Given the description of an element on the screen output the (x, y) to click on. 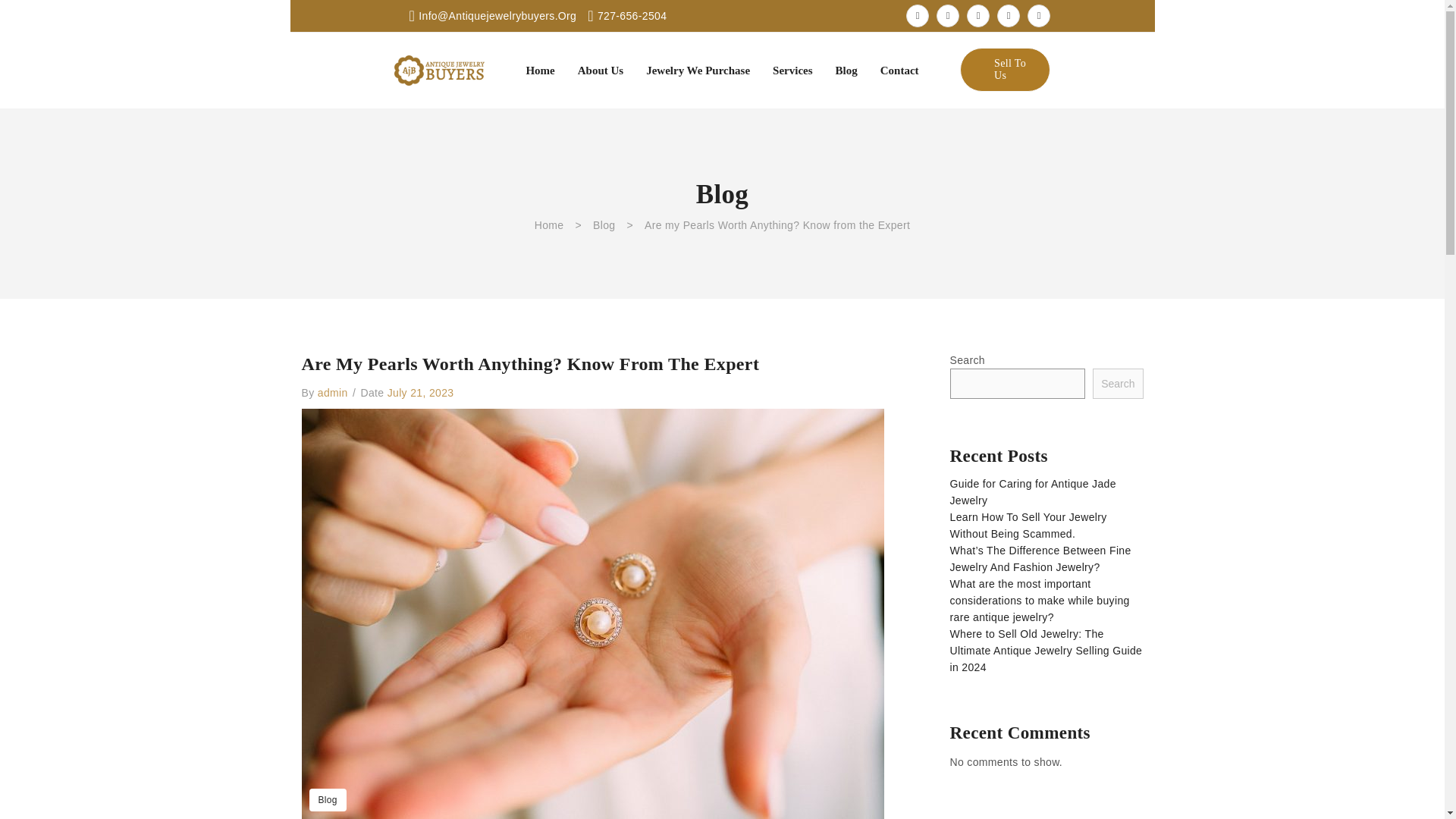
Jewelry We Purchase (697, 70)
Instagram (978, 15)
Sell To Us (1004, 69)
Youtube (1038, 15)
Linkedin (1008, 15)
Antique Jewelry Buyers (439, 69)
Twitter (947, 15)
Facebook (916, 15)
